Given the description of an element on the screen output the (x, y) to click on. 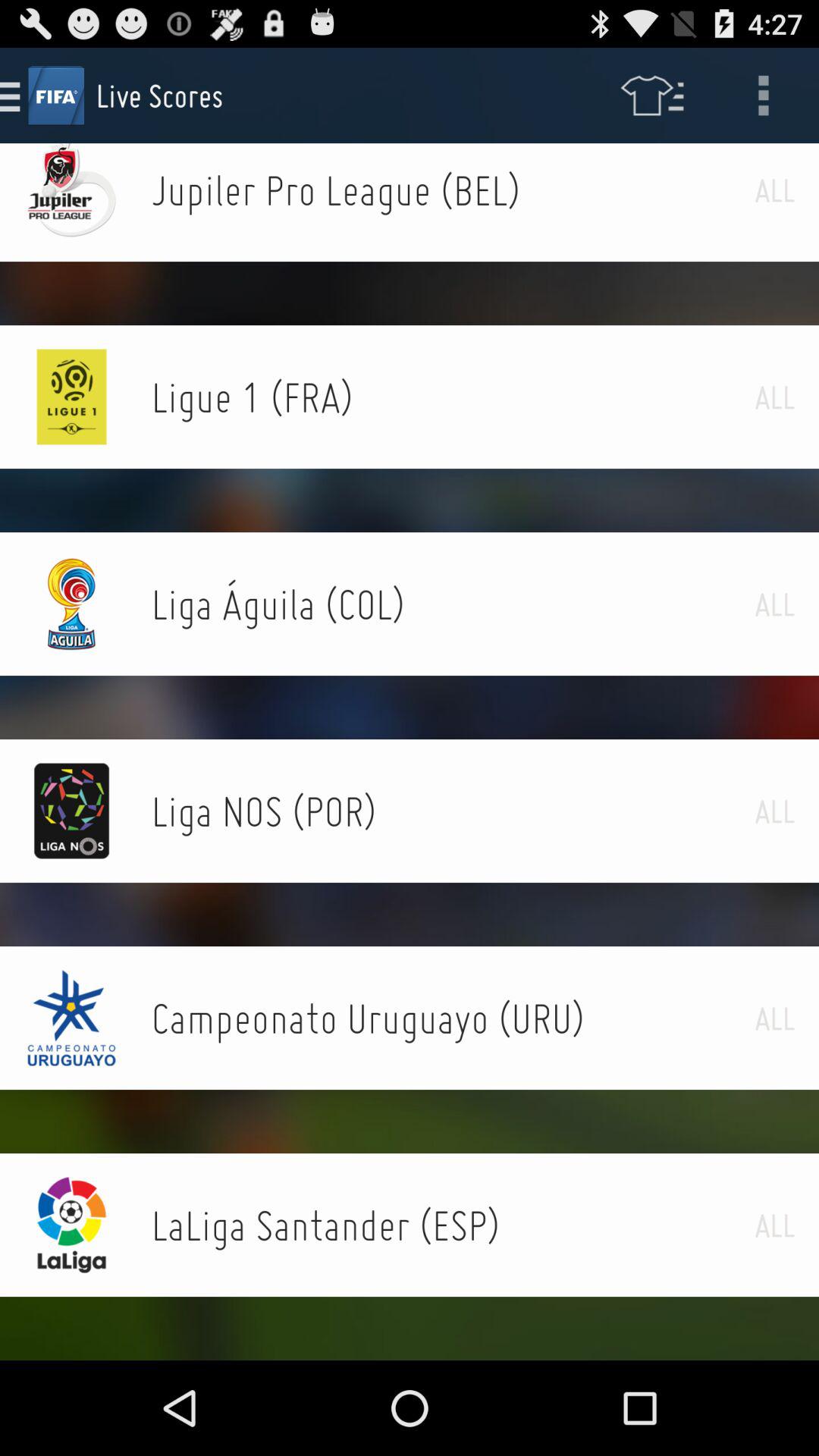
tap the campeonato uruguayo (uru) icon (452, 1017)
